Given the description of an element on the screen output the (x, y) to click on. 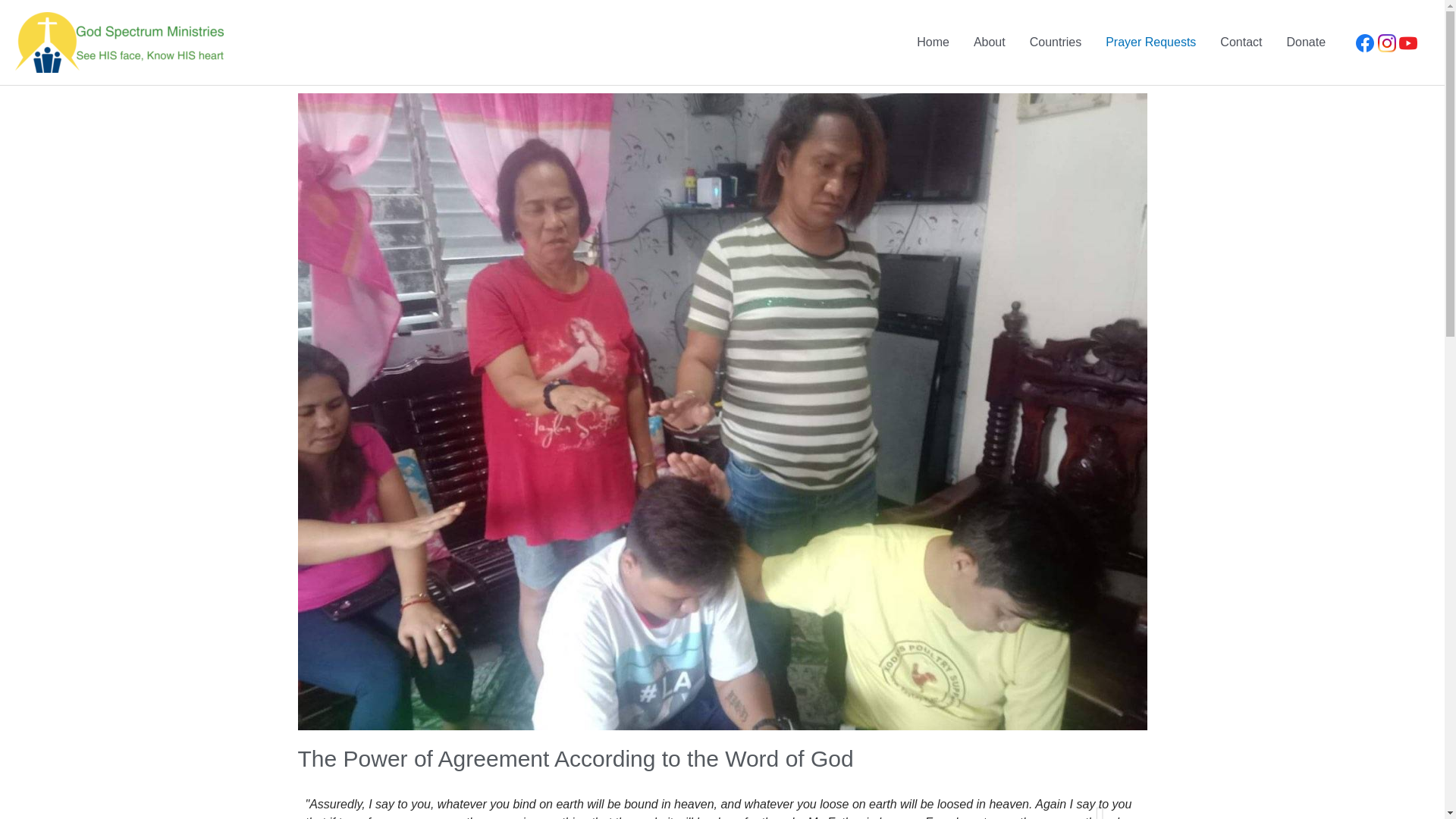
Countries (1055, 42)
Prayer Requests (1150, 42)
